Given the description of an element on the screen output the (x, y) to click on. 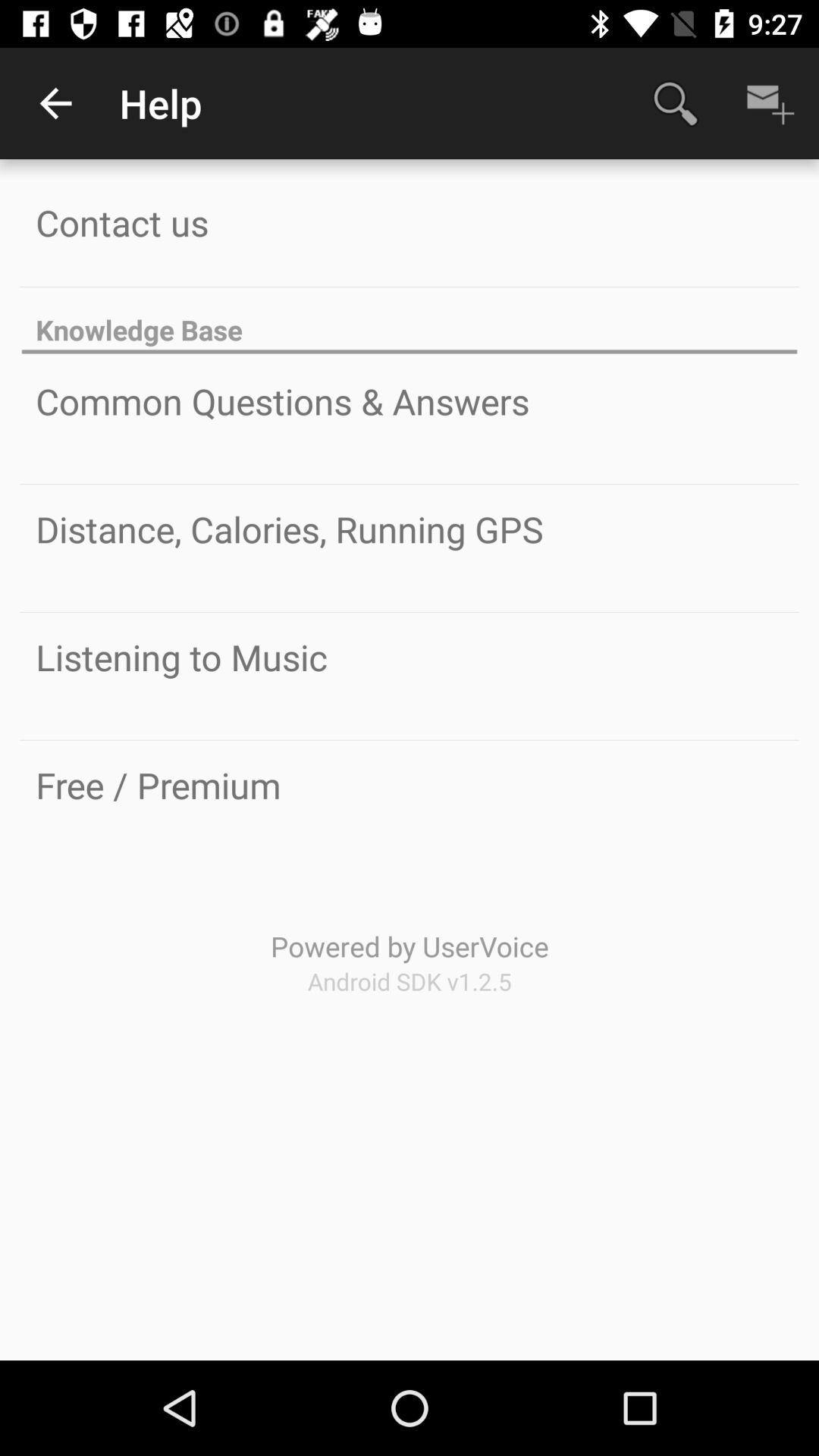
swipe until the android sdk v1 (409, 981)
